Given the description of an element on the screen output the (x, y) to click on. 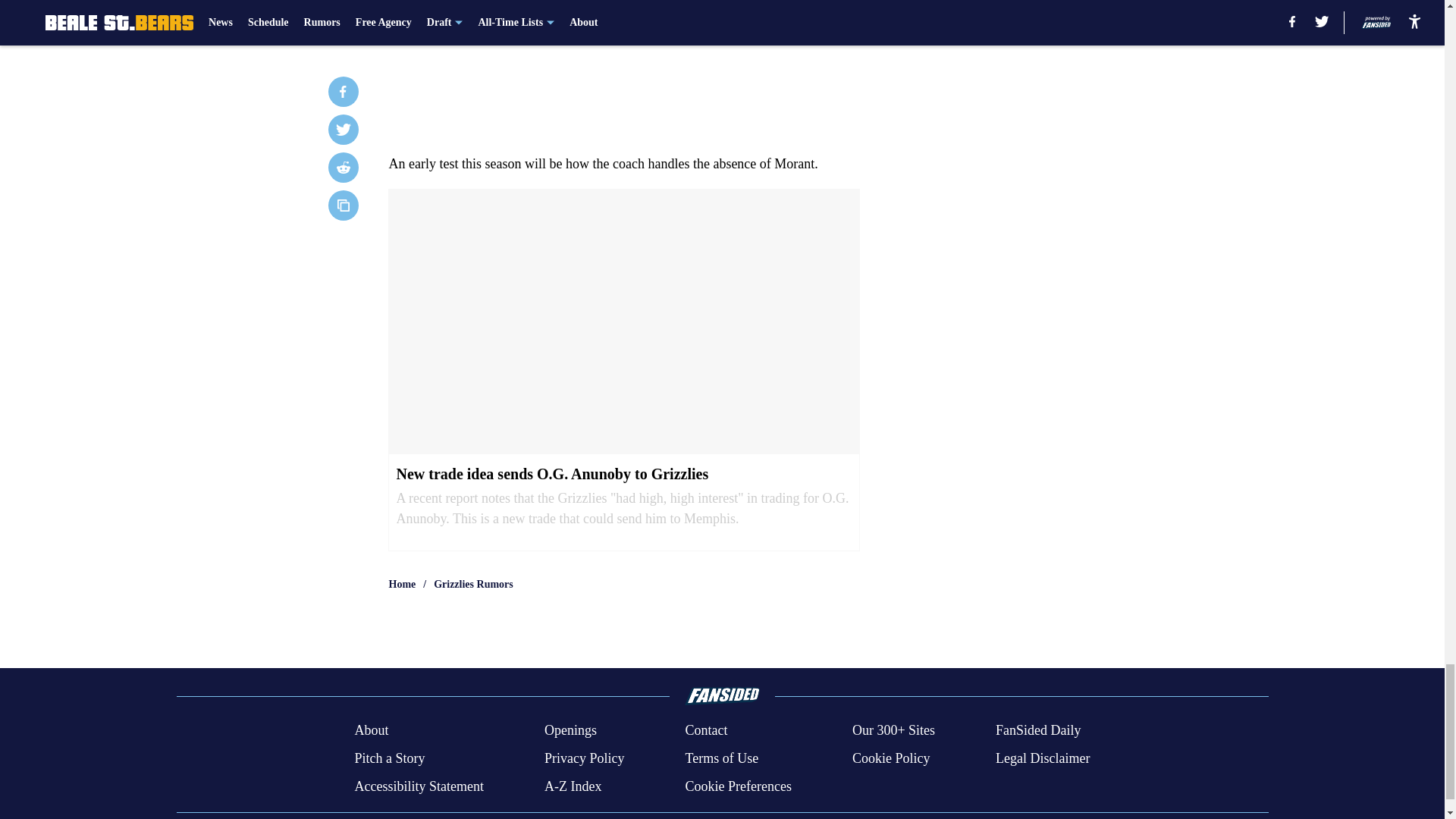
Contact (705, 730)
About (370, 730)
Grizzlies Rumors (473, 584)
Openings (570, 730)
FanSided Daily (1038, 730)
Home (401, 584)
